Given the description of an element on the screen output the (x, y) to click on. 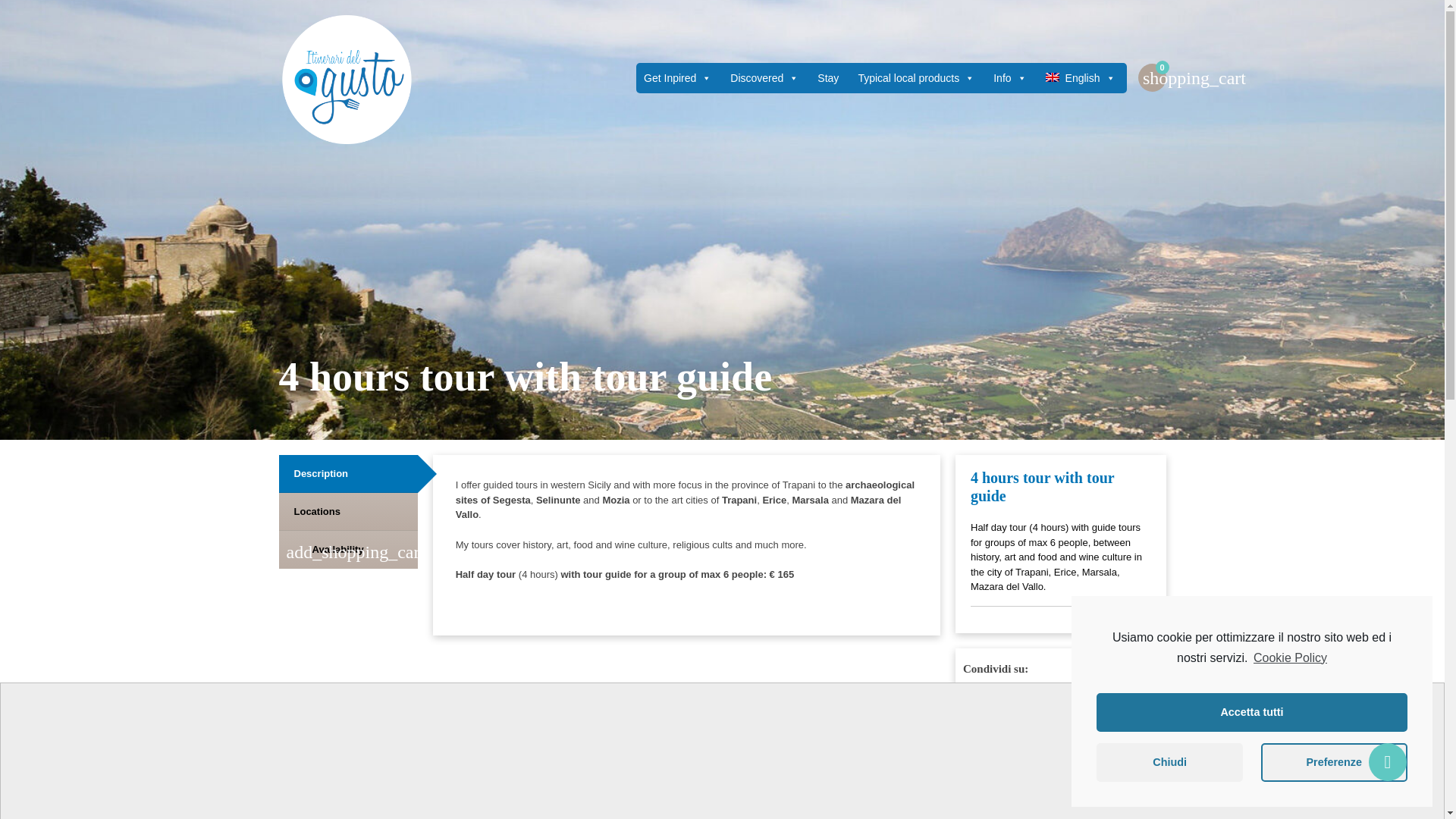
Get Inpired (677, 77)
Discovered (764, 77)
